Given the description of an element on the screen output the (x, y) to click on. 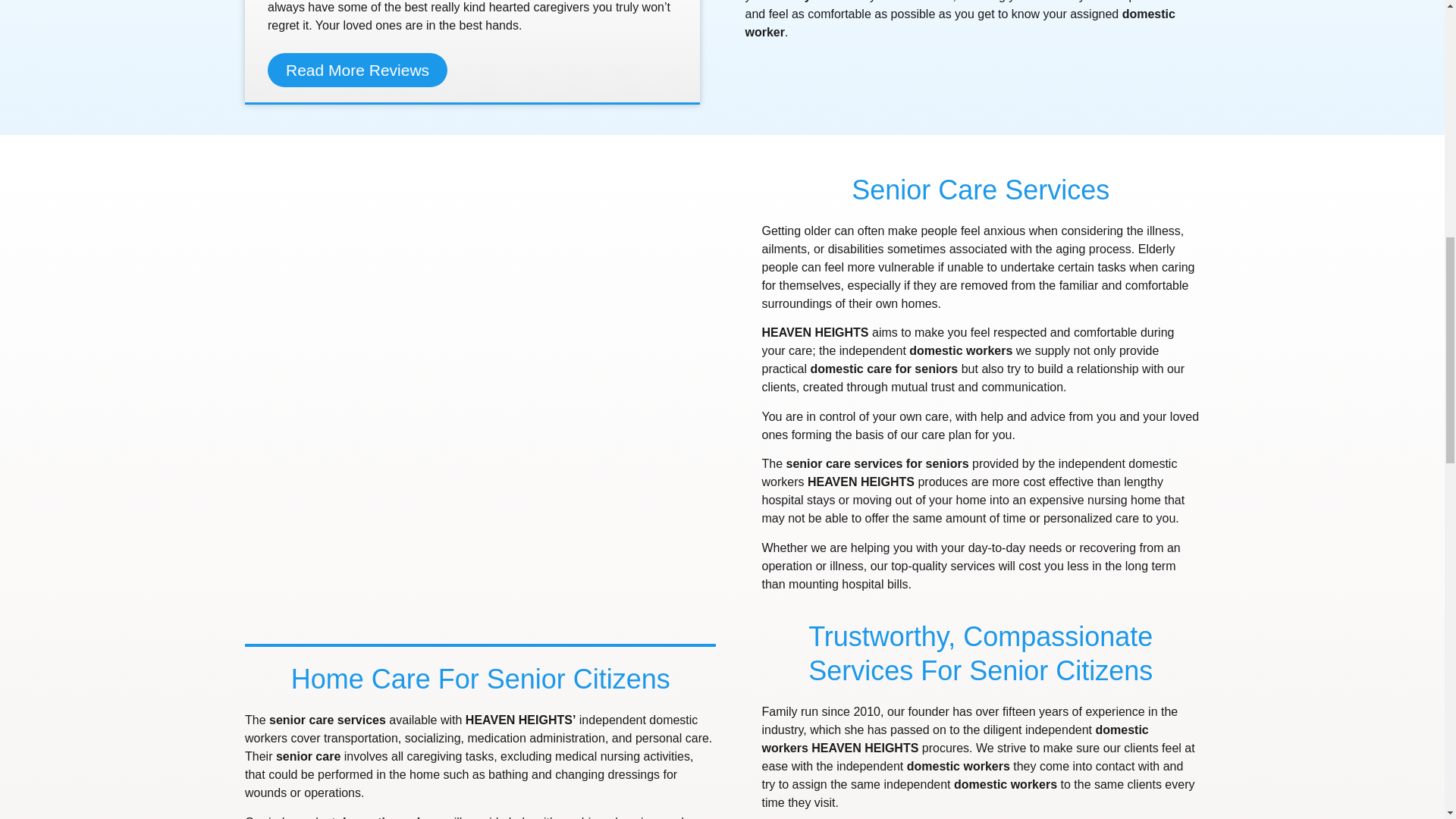
Read More Reviews (356, 69)
